Given the description of an element on the screen output the (x, y) to click on. 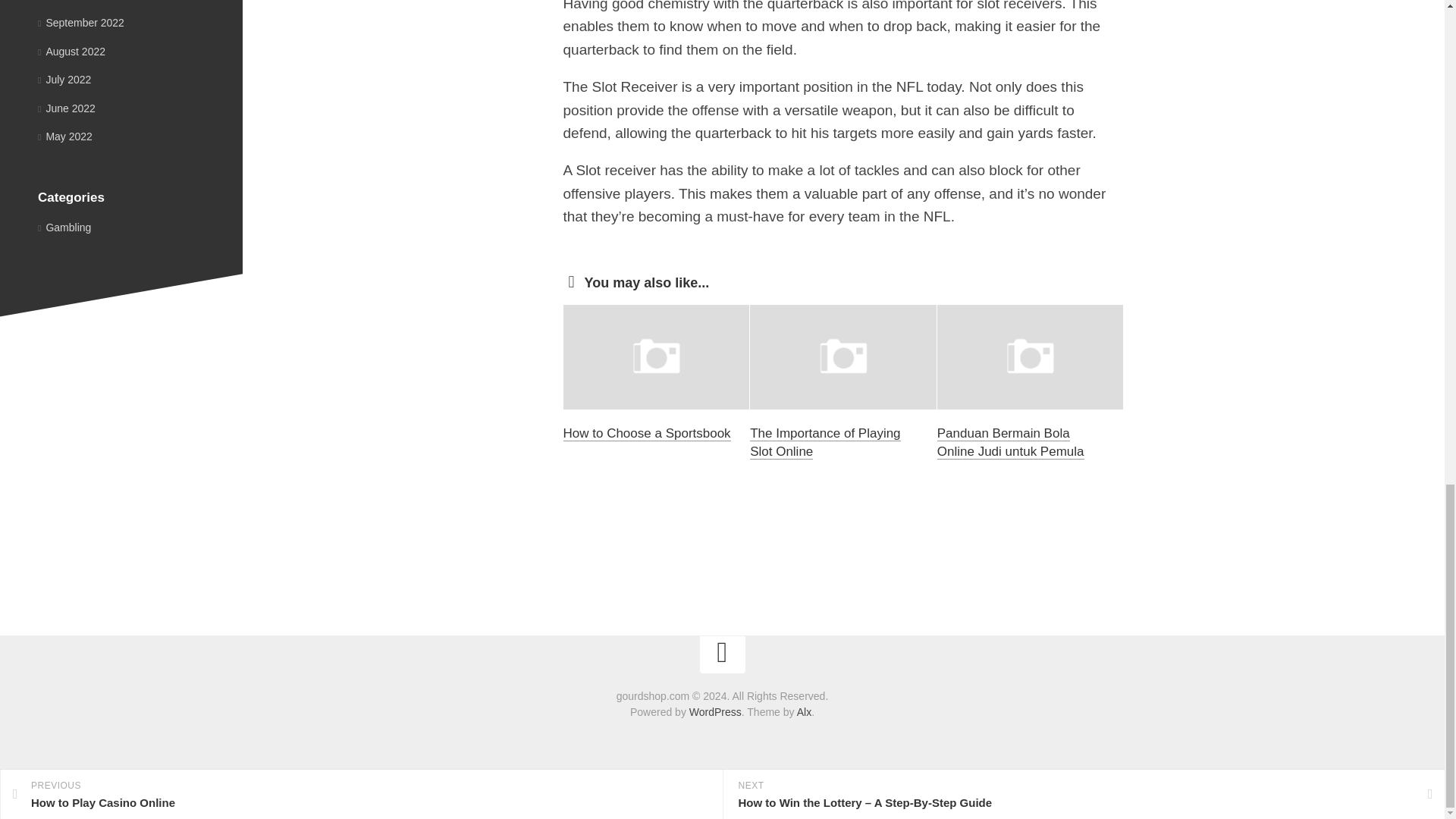
October 2022 (73, 0)
How to Choose a Sportsbook (646, 432)
Panduan Bermain Bola Online Judi untuk Pemula (1010, 441)
The Importance of Playing Slot Online (824, 441)
